Given the description of an element on the screen output the (x, y) to click on. 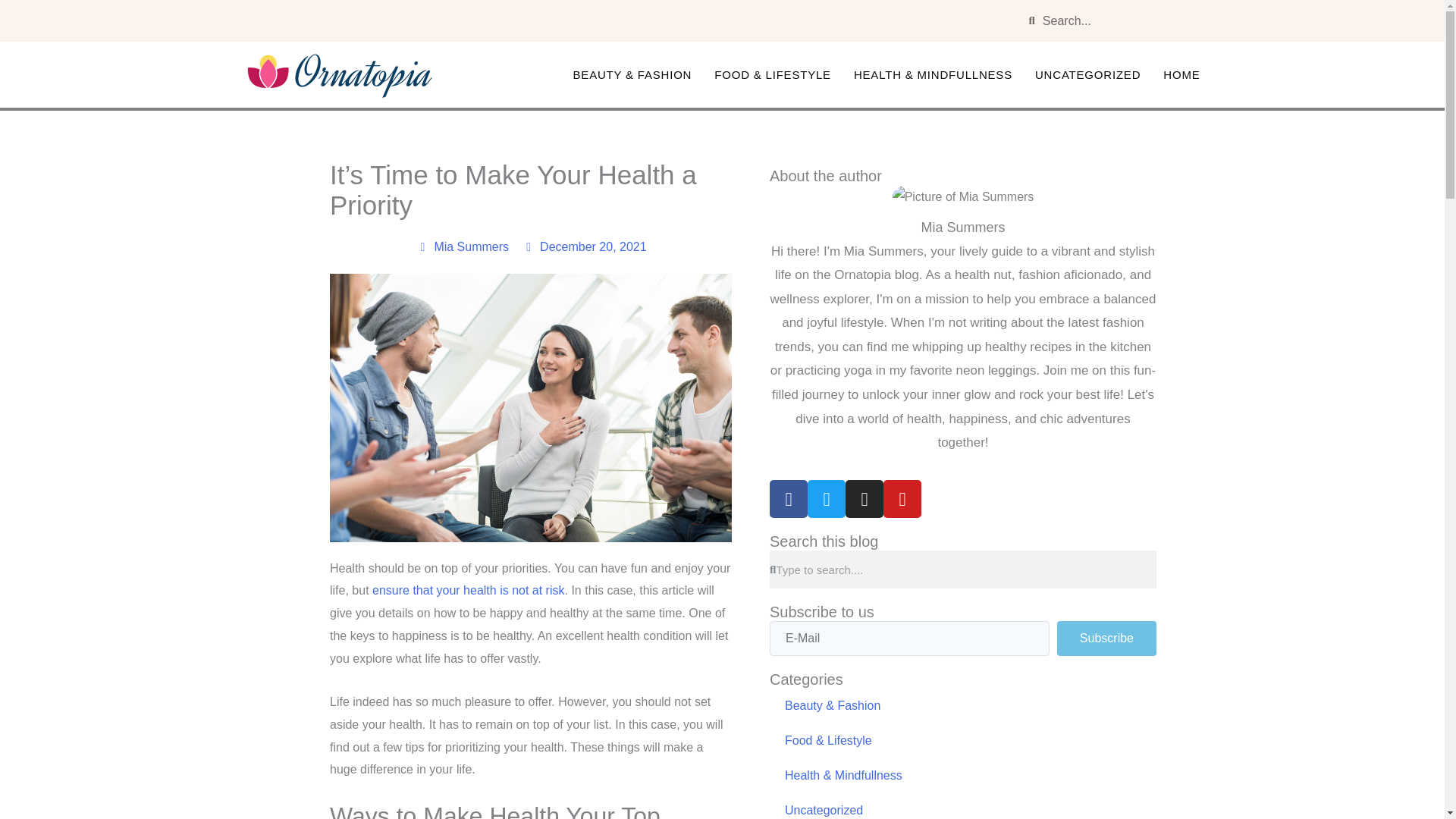
Mia Summers (461, 246)
Twitter (826, 498)
December 20, 2021 (583, 246)
UNCATEGORIZED (1087, 74)
Instagram (864, 498)
Facebook (789, 498)
Subscribe (1106, 638)
Youtube (902, 498)
Uncategorized (963, 806)
ensure that your health is not at risk (468, 590)
